Given the description of an element on the screen output the (x, y) to click on. 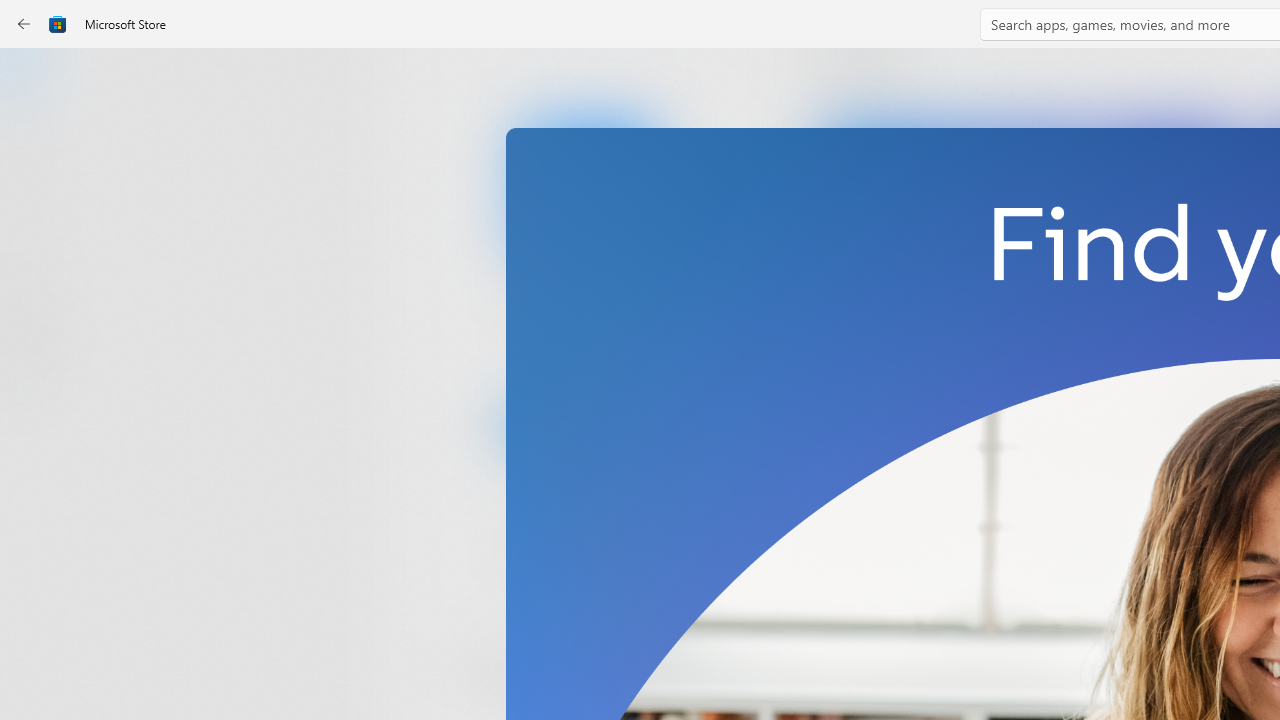
Screenshot 1 (1029, 279)
Get (586, 424)
LinkedIn (585, 333)
3.9 stars. Click to skip to ratings and reviews (542, 556)
Back (24, 24)
